Given the description of an element on the screen output the (x, y) to click on. 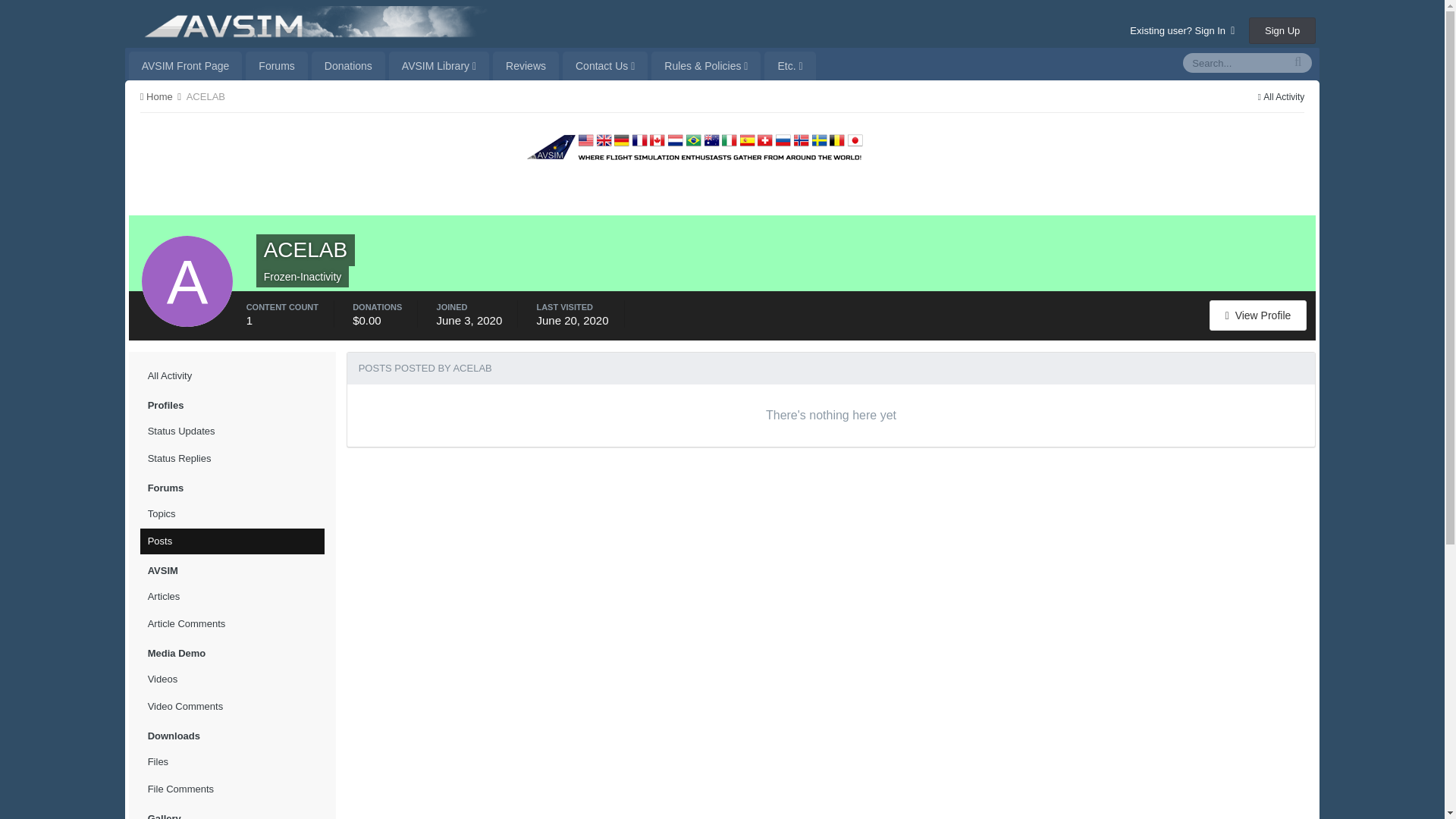
Home (161, 96)
Contact Us (604, 65)
AVSIM Front Page (186, 65)
Home (161, 96)
AVSIM Library (438, 65)
ACELAB's Profile (1258, 315)
Etc. (789, 65)
Sign Up (1282, 30)
Donations (348, 65)
All Activity (1280, 96)
